Given the description of an element on the screen output the (x, y) to click on. 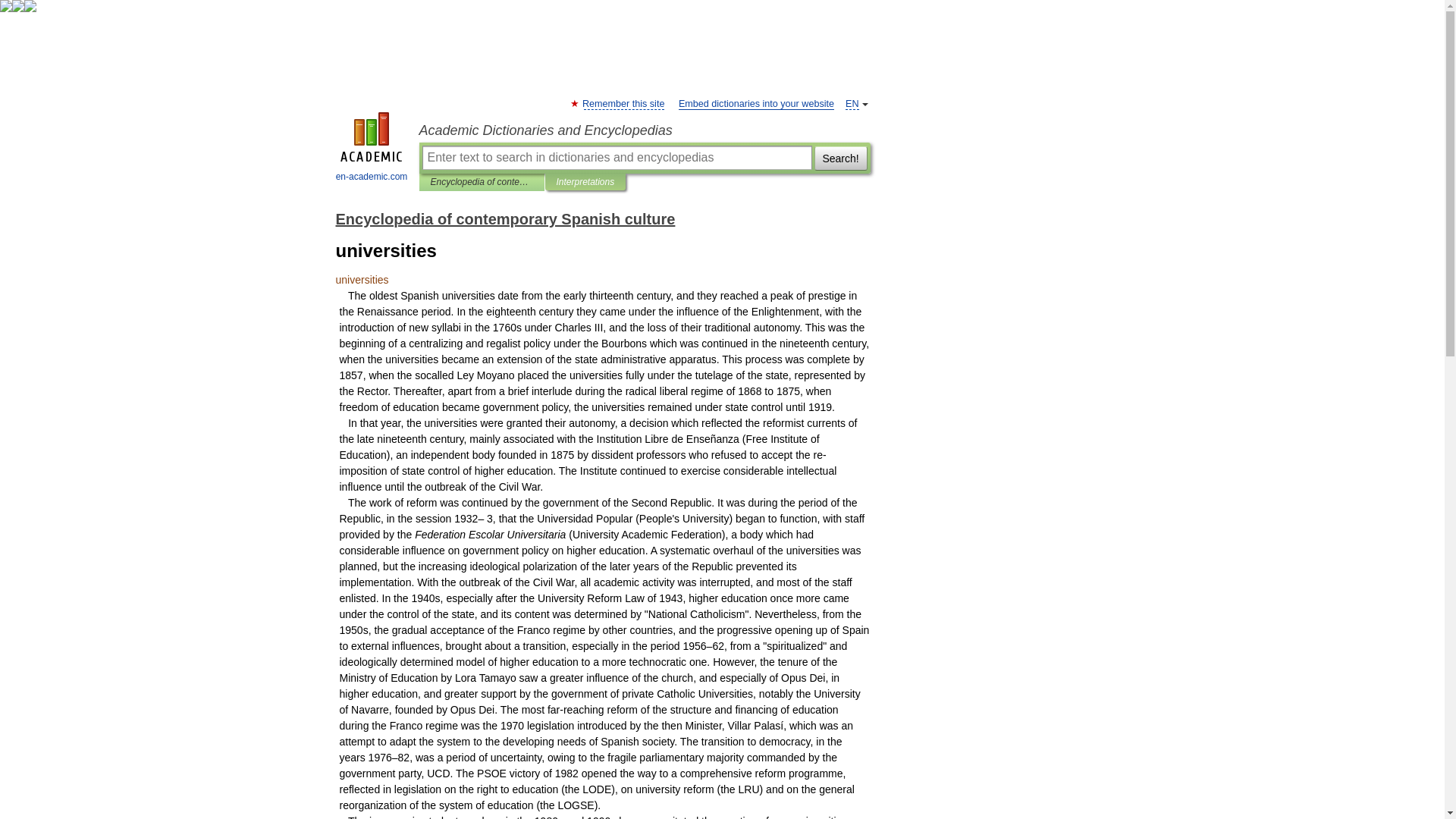
Search! (840, 157)
Enter text to search in dictionaries and encyclopedias (616, 157)
Encyclopedia of contemporary Spanish culture (481, 181)
Embed dictionaries into your website (756, 103)
Interpretations (585, 181)
en-academic.com (371, 148)
Encyclopedia of contemporary Spanish culture (504, 218)
EN (852, 103)
Academic Dictionaries and Encyclopedias (644, 130)
Remember this site (623, 103)
